Given the description of an element on the screen output the (x, y) to click on. 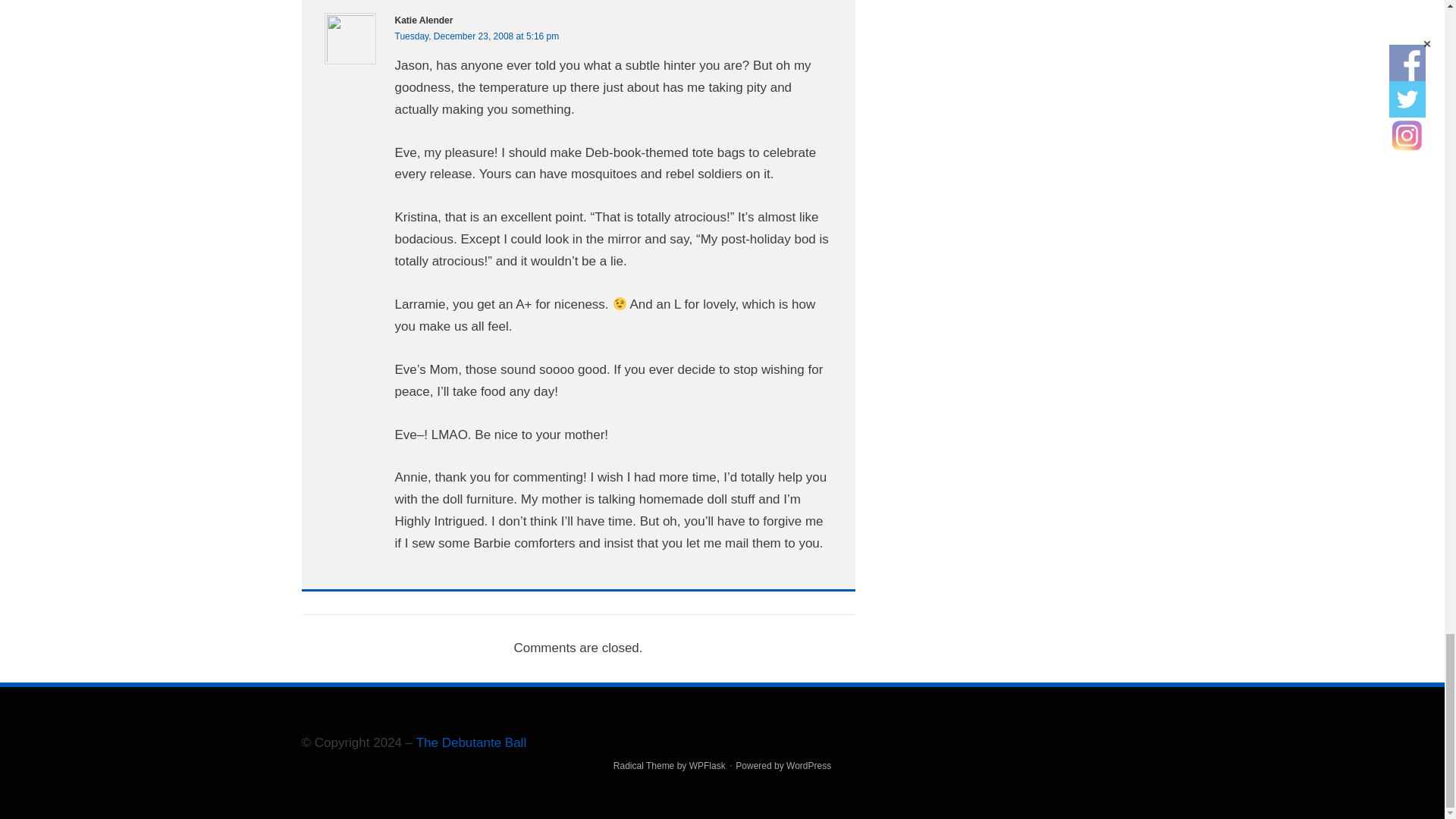
Tuesday, December 23, 2008 at 5:16 pm (476, 36)
WordPress (808, 765)
WPFlask (706, 765)
Katie Alender (423, 20)
